Given the description of an element on the screen output the (x, y) to click on. 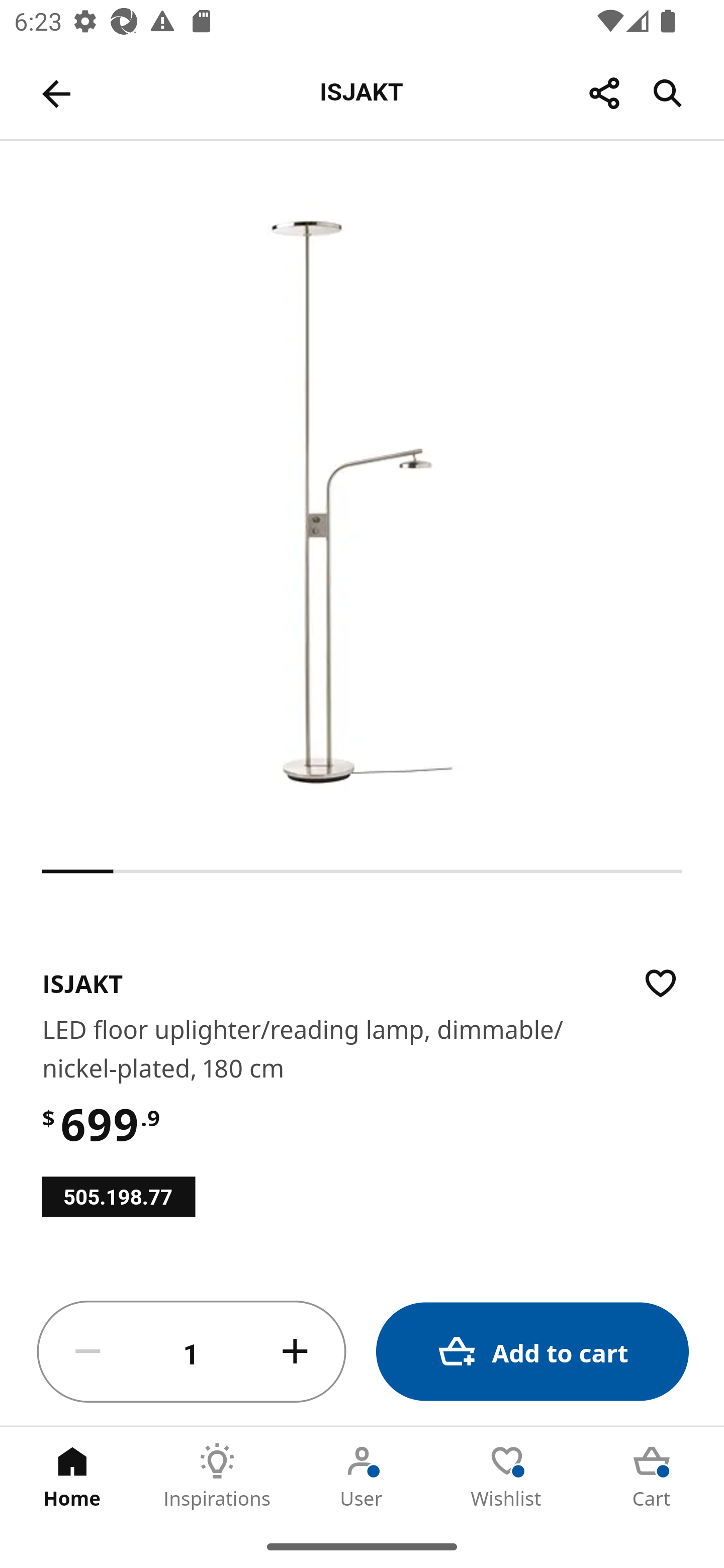
Add to cart (531, 1352)
1 (191, 1352)
Home
Tab 1 of 5 (72, 1476)
Inspirations
Tab 2 of 5 (216, 1476)
User
Tab 3 of 5 (361, 1476)
Wishlist
Tab 4 of 5 (506, 1476)
Cart
Tab 5 of 5 (651, 1476)
